Given the description of an element on the screen output the (x, y) to click on. 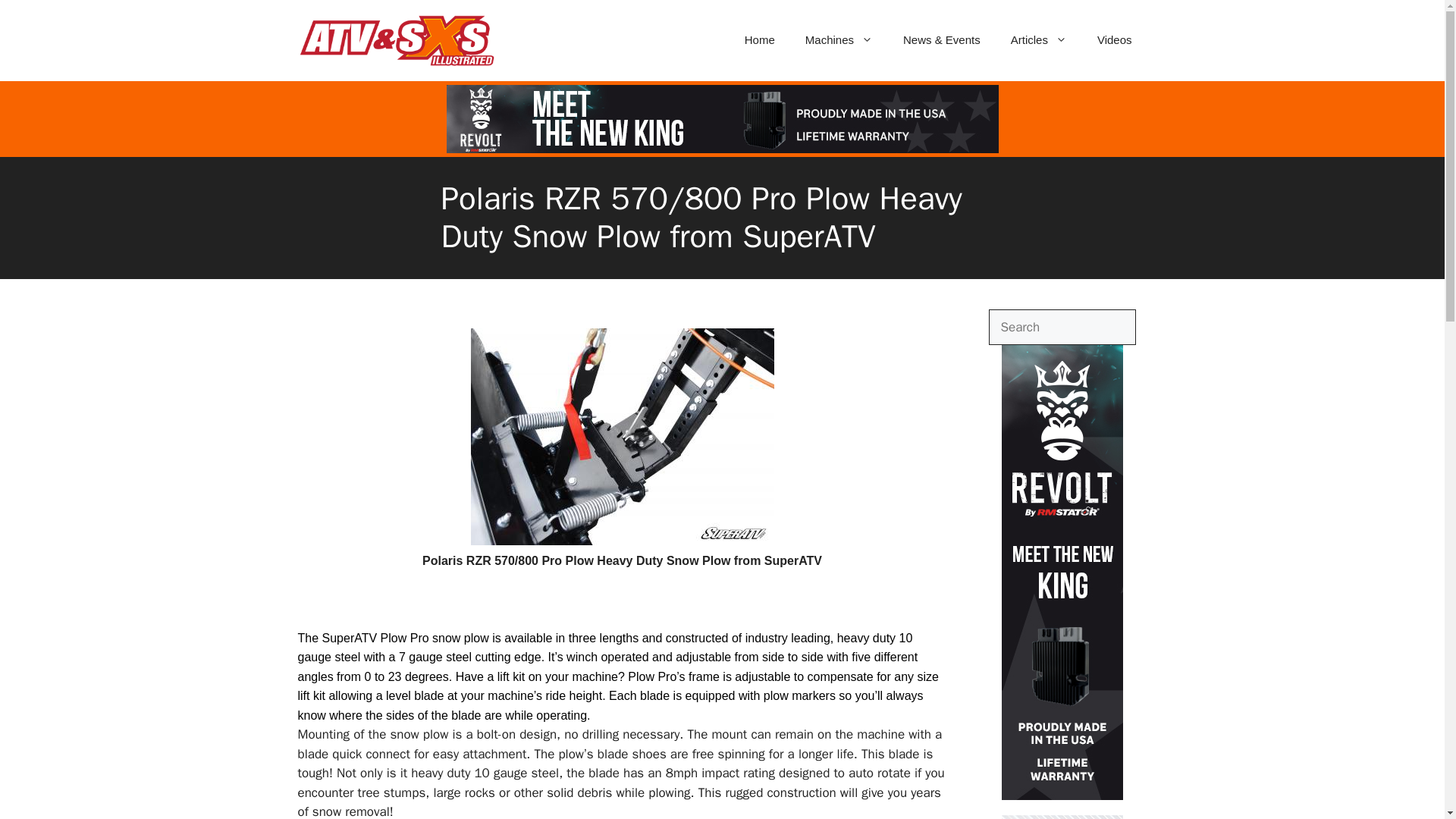
Home (759, 40)
Videos (1114, 40)
Articles (1038, 40)
Machines (839, 40)
